Given the description of an element on the screen output the (x, y) to click on. 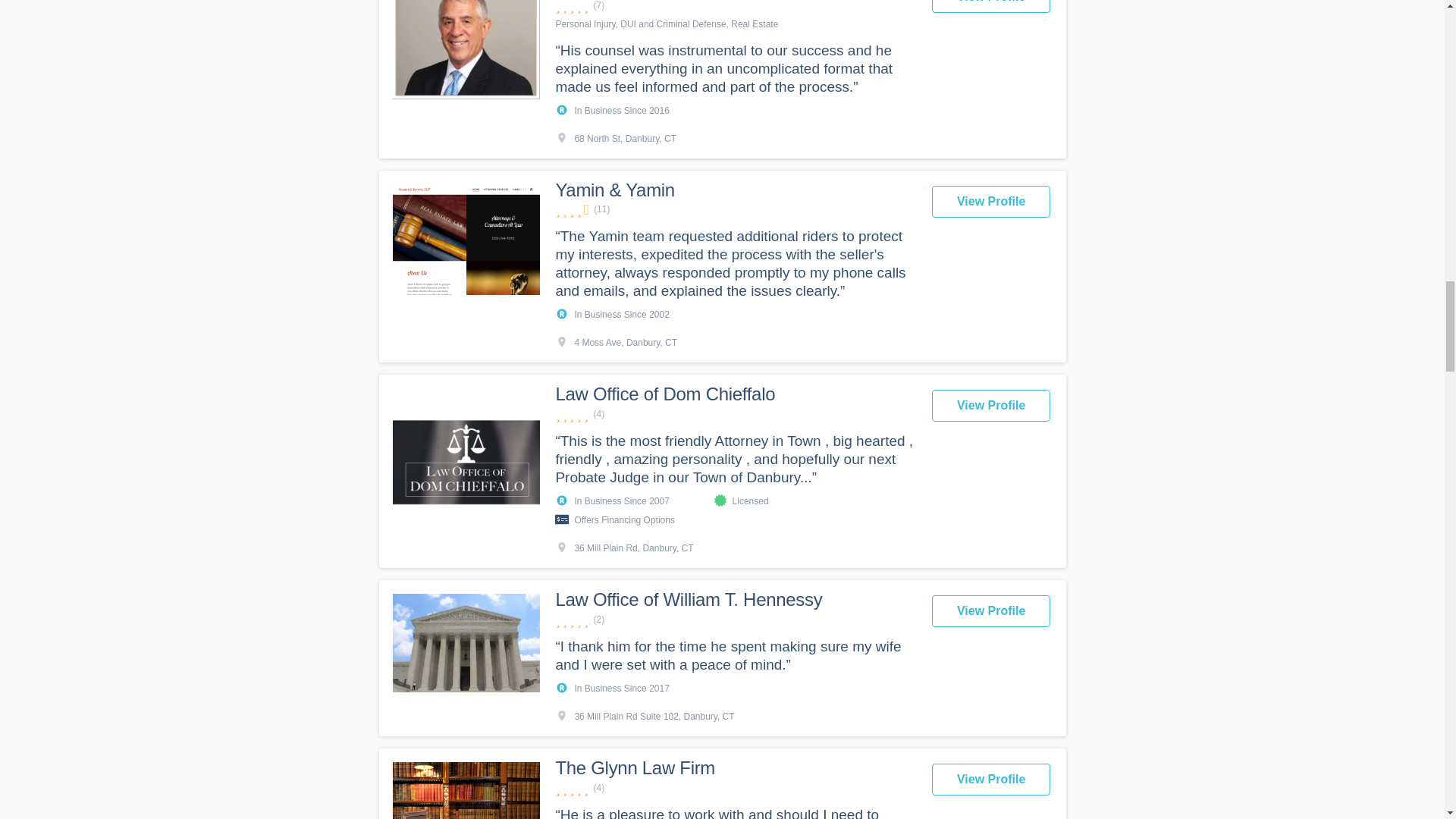
5.0 (734, 619)
5.0 (734, 414)
4.6 (734, 209)
5.0 (734, 6)
5.0 (734, 788)
